Given the description of an element on the screen output the (x, y) to click on. 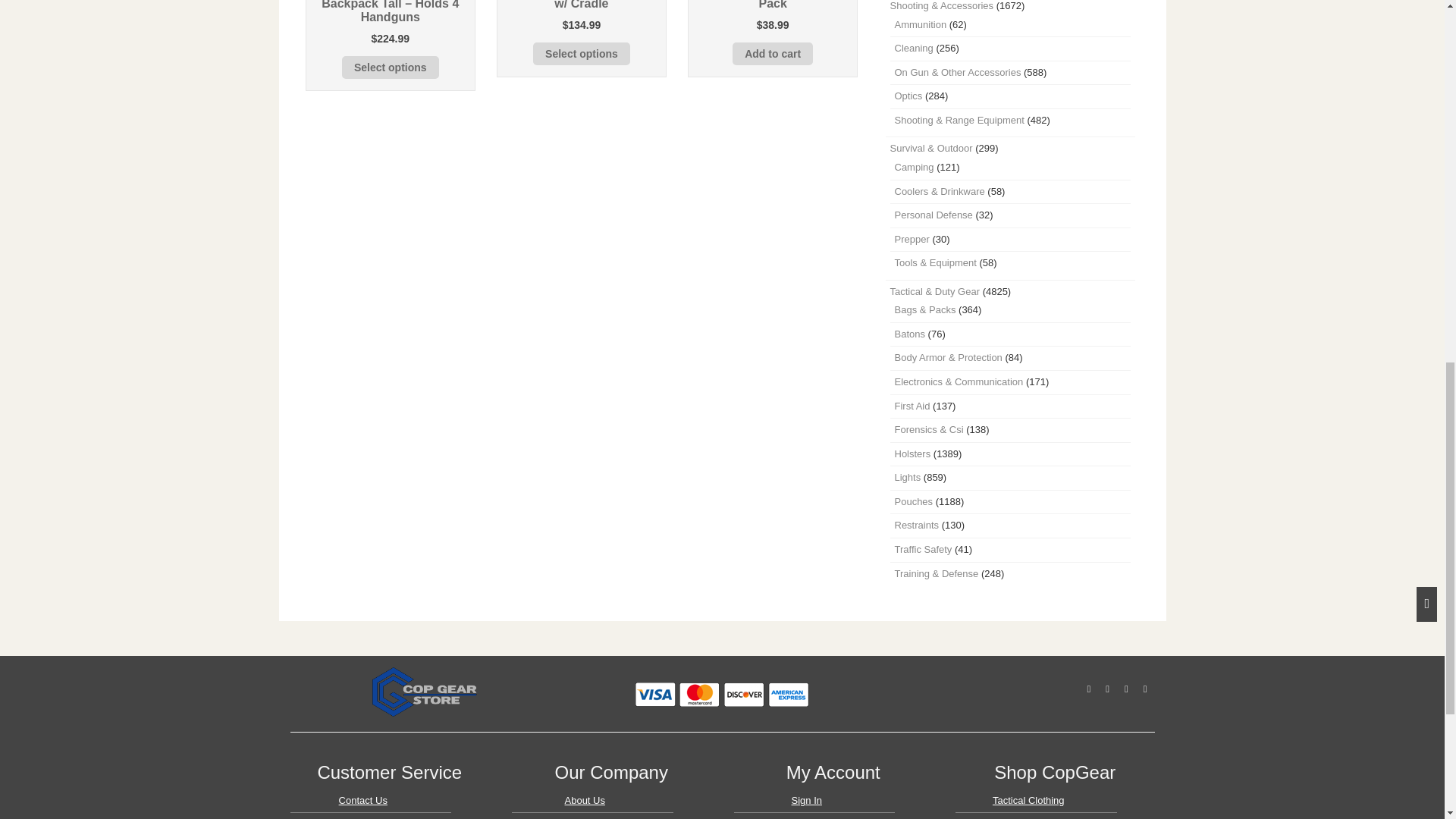
Select options (581, 53)
Select options (390, 67)
